Given the description of an element on the screen output the (x, y) to click on. 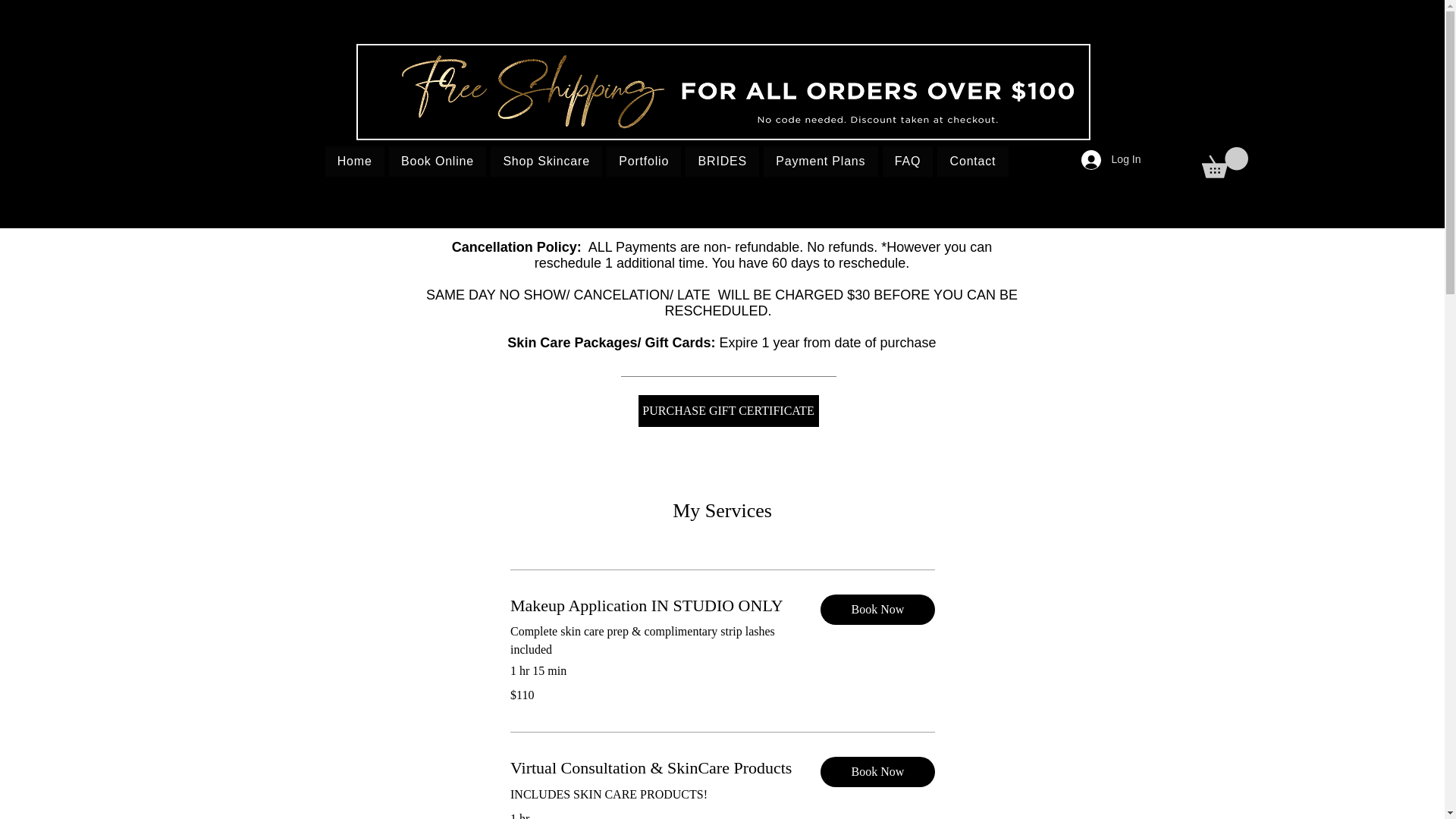
Home (354, 161)
Payment Plans (819, 161)
FAQ (907, 161)
Shop Skincare (546, 161)
Portfolio (644, 161)
BRIDES (721, 161)
Contact (972, 161)
Makeup Application IN STUDIO ONLY (651, 605)
PURCHASE GIFT CERTIFICATE (728, 410)
Book Online (437, 161)
Log In (1110, 159)
Book Now (877, 771)
Book Now (877, 609)
